Given the description of an element on the screen output the (x, y) to click on. 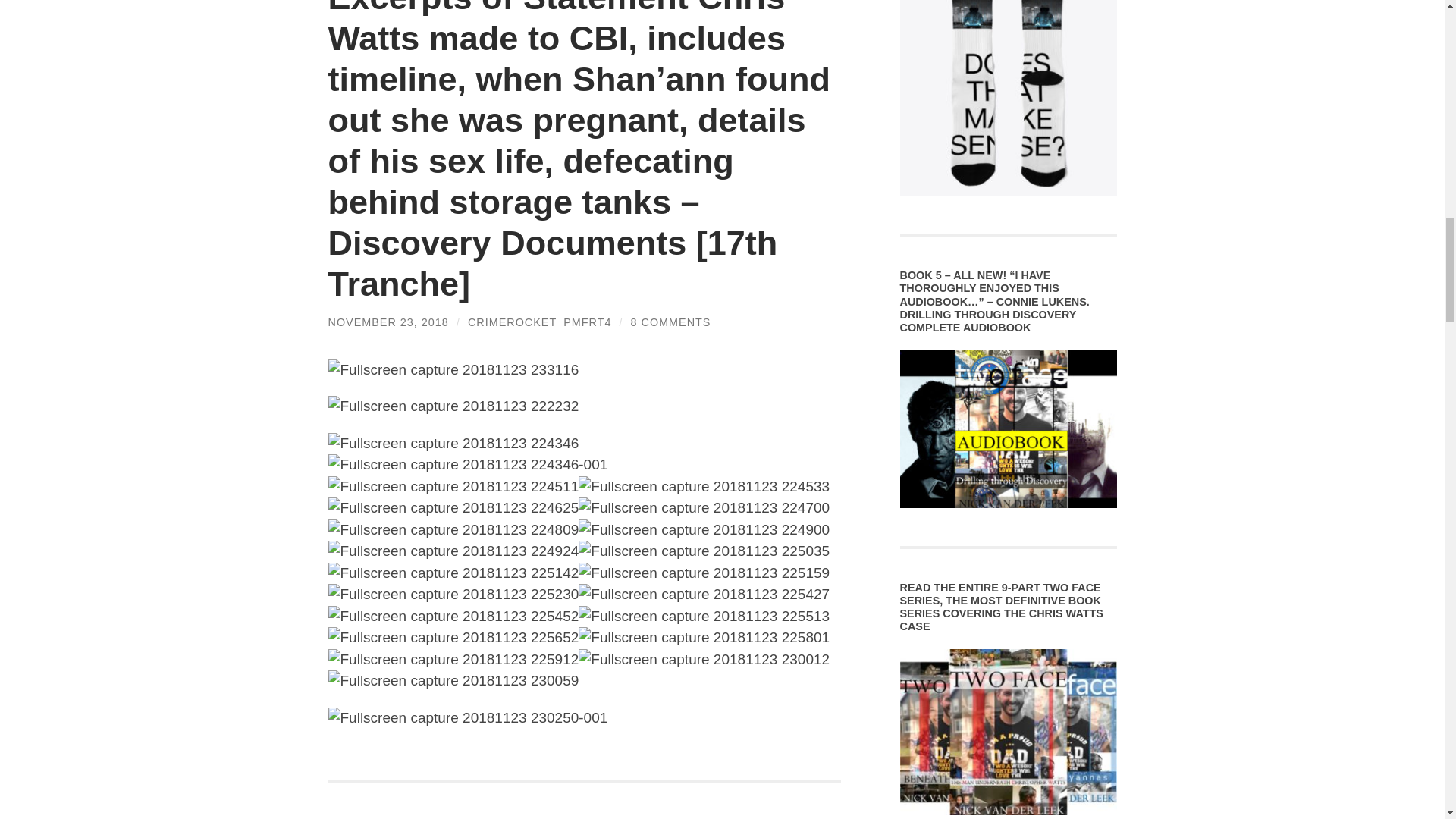
8 COMMENTS (670, 322)
NOVEMBER 23, 2018 (387, 322)
